Given the description of an element on the screen output the (x, y) to click on. 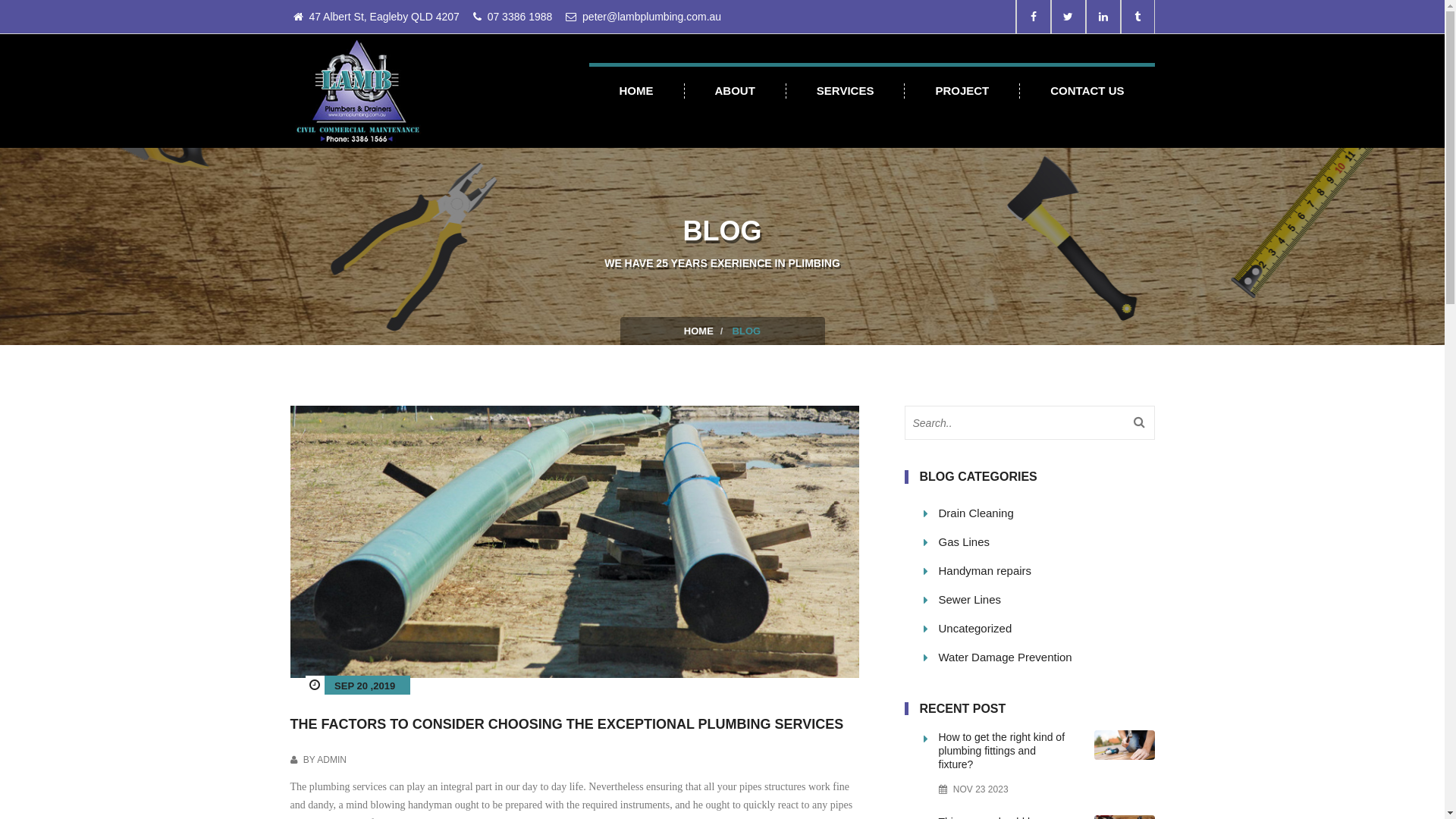
How to get the right kind of plumbing fittings and fixture? Element type: text (1005, 750)
ABOUT Element type: text (734, 90)
Handyman repairs Element type: text (1046, 570)
HOME Element type: text (636, 90)
HOME Element type: text (698, 330)
Gas Lines Element type: text (1046, 541)
Drain Cleaning Element type: text (1046, 512)
Sewer Lines Element type: text (1046, 598)
Water Damage Prevention Element type: text (1046, 656)
Uncategorized Element type: text (1046, 627)
SERVICES Element type: text (845, 90)
PROJECT Element type: text (961, 90)
CONTACT US Element type: text (1086, 90)
